Given the description of an element on the screen output the (x, y) to click on. 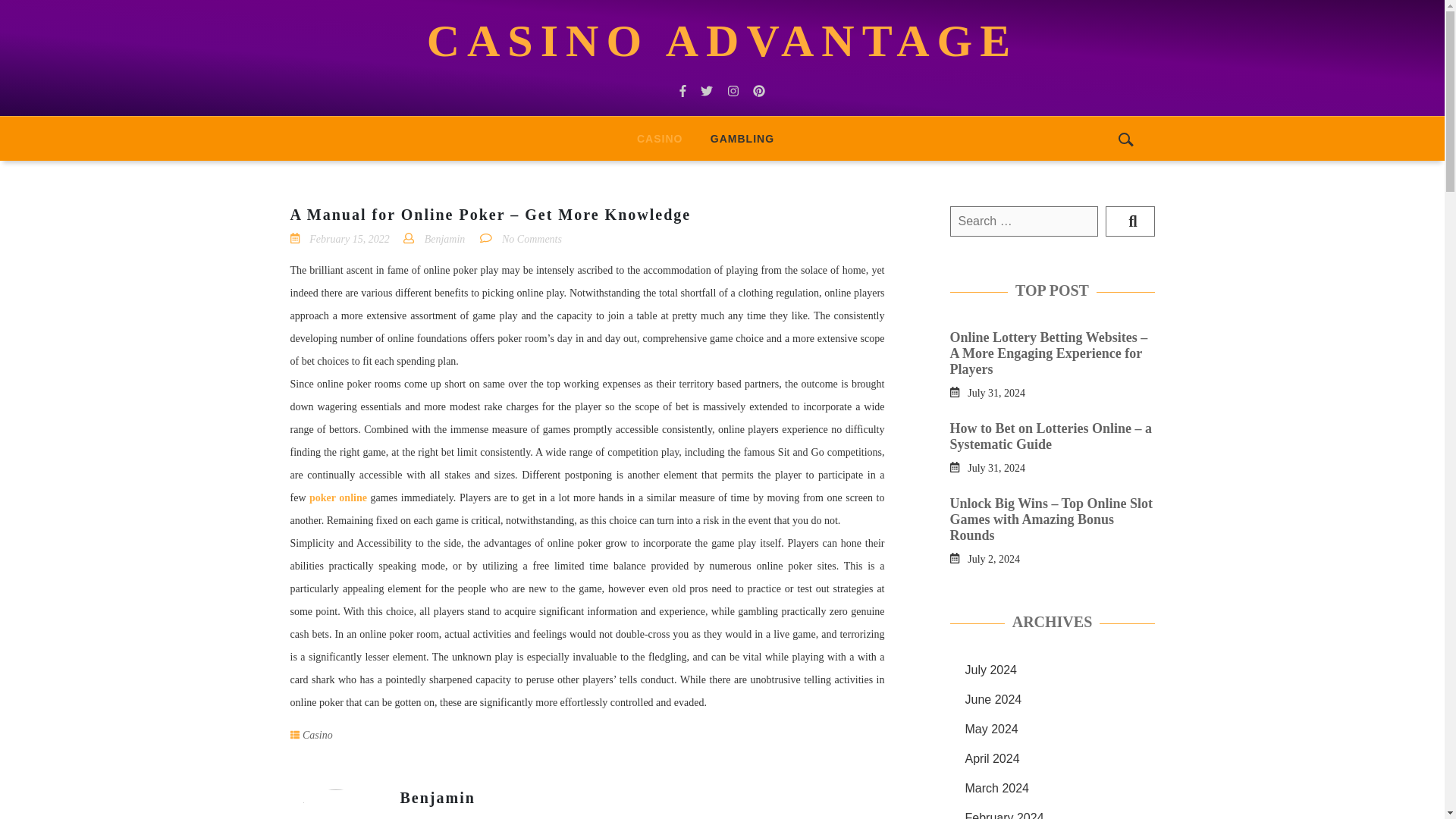
April 2024 (991, 758)
February 15, 2022 (348, 238)
Posts by Benjamin (438, 797)
June 2024 (992, 698)
Search (1129, 221)
Search (1129, 221)
March 2024 (996, 788)
CASINO (659, 138)
Casino (659, 138)
July 31, 2024 (996, 391)
